Given the description of an element on the screen output the (x, y) to click on. 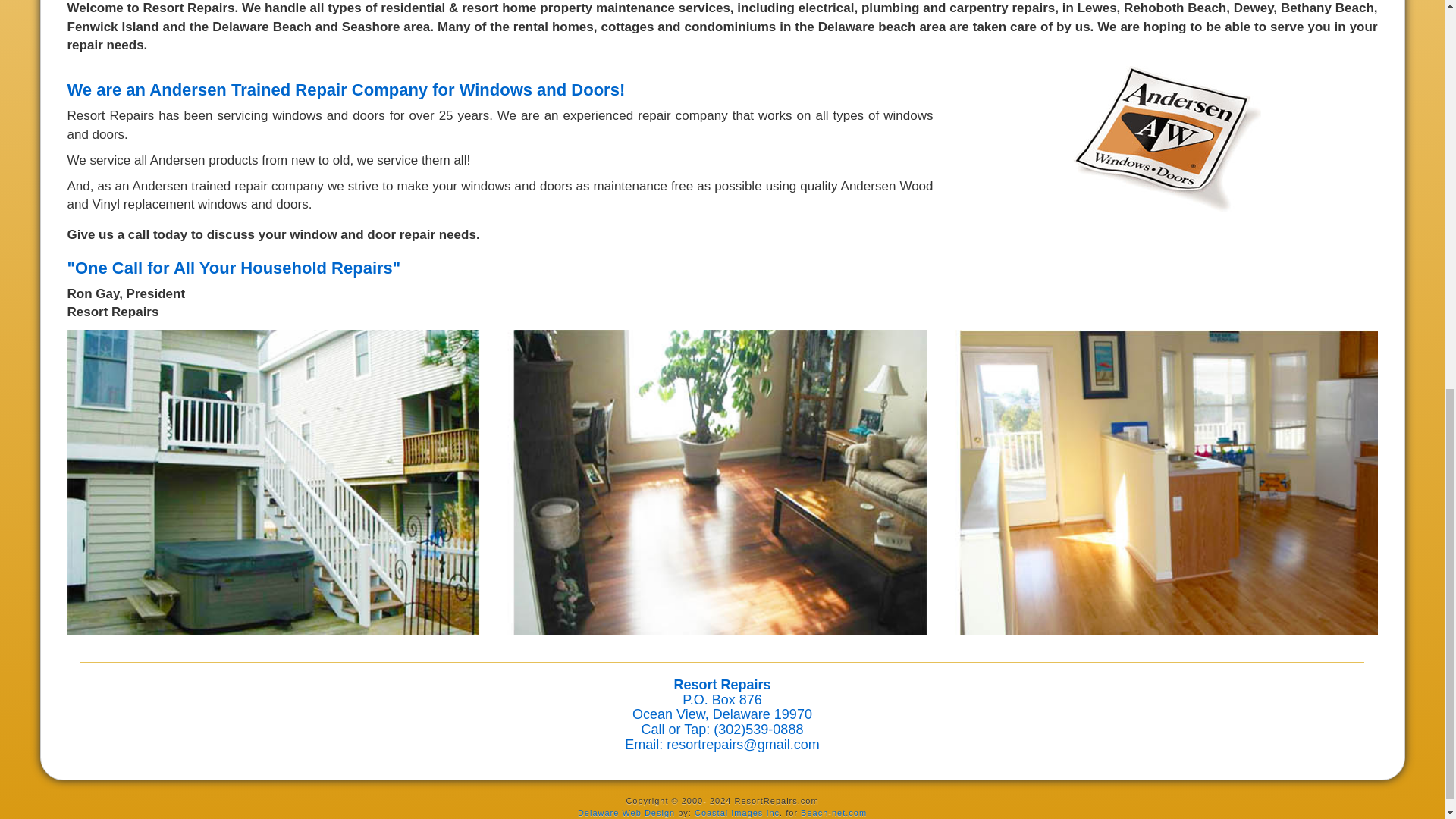
Coastal Images Inc (736, 812)
Delaware Web Design (626, 812)
Beach-net.com (833, 812)
email (742, 744)
